Given the description of an element on the screen output the (x, y) to click on. 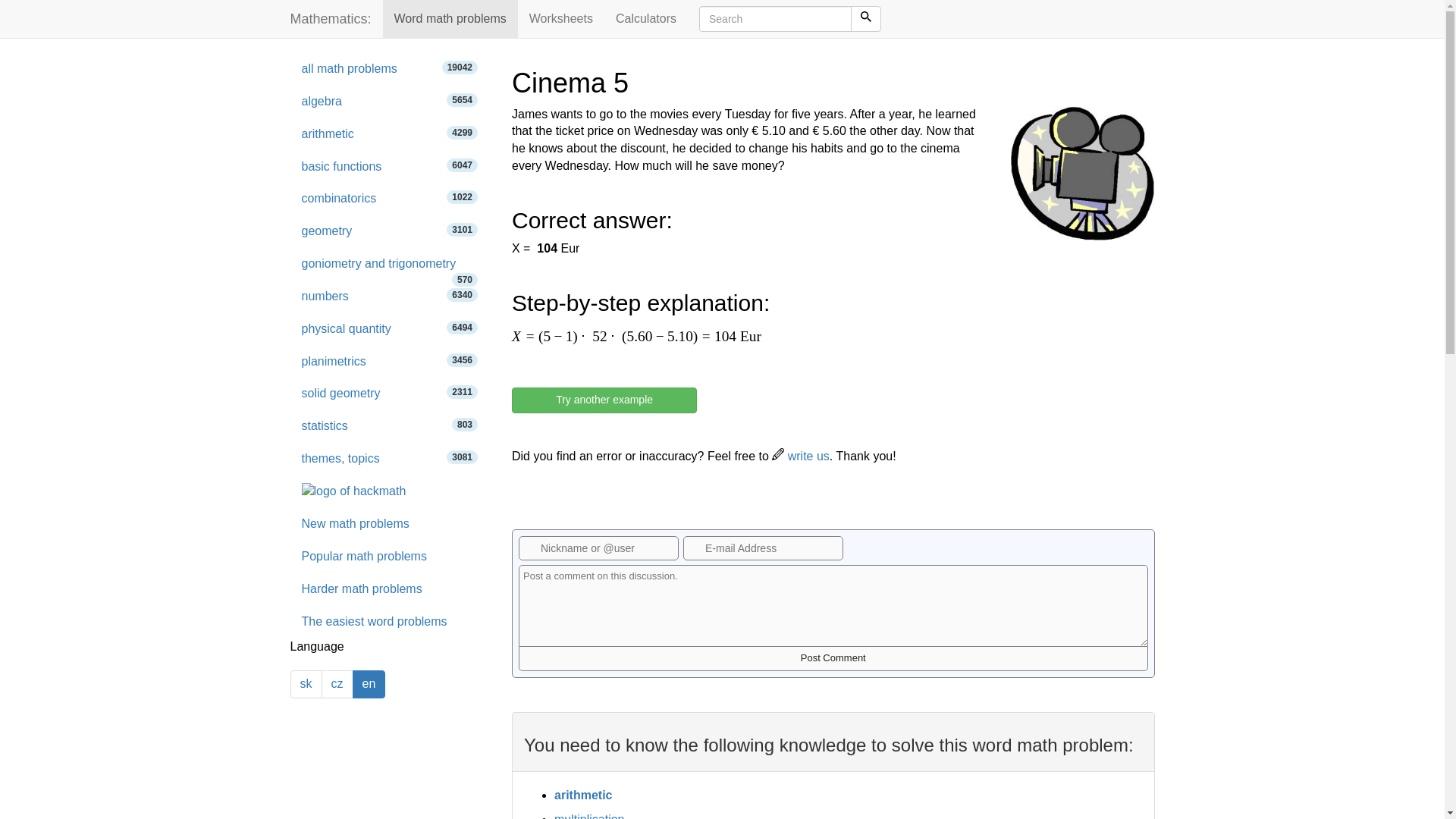
The number of examples: 5654 (461, 100)
The number of examples: 1022 (461, 196)
Word math problems (389, 69)
New math problems (389, 361)
Elementary arithmetic (389, 198)
Math examples of goniometry and trigonometry (450, 18)
Math examples of basic functions (389, 328)
Try another example (389, 523)
Post Comment (561, 18)
The number of examples: 6047 (389, 264)
Correct result (389, 166)
